Given the description of an element on the screen output the (x, y) to click on. 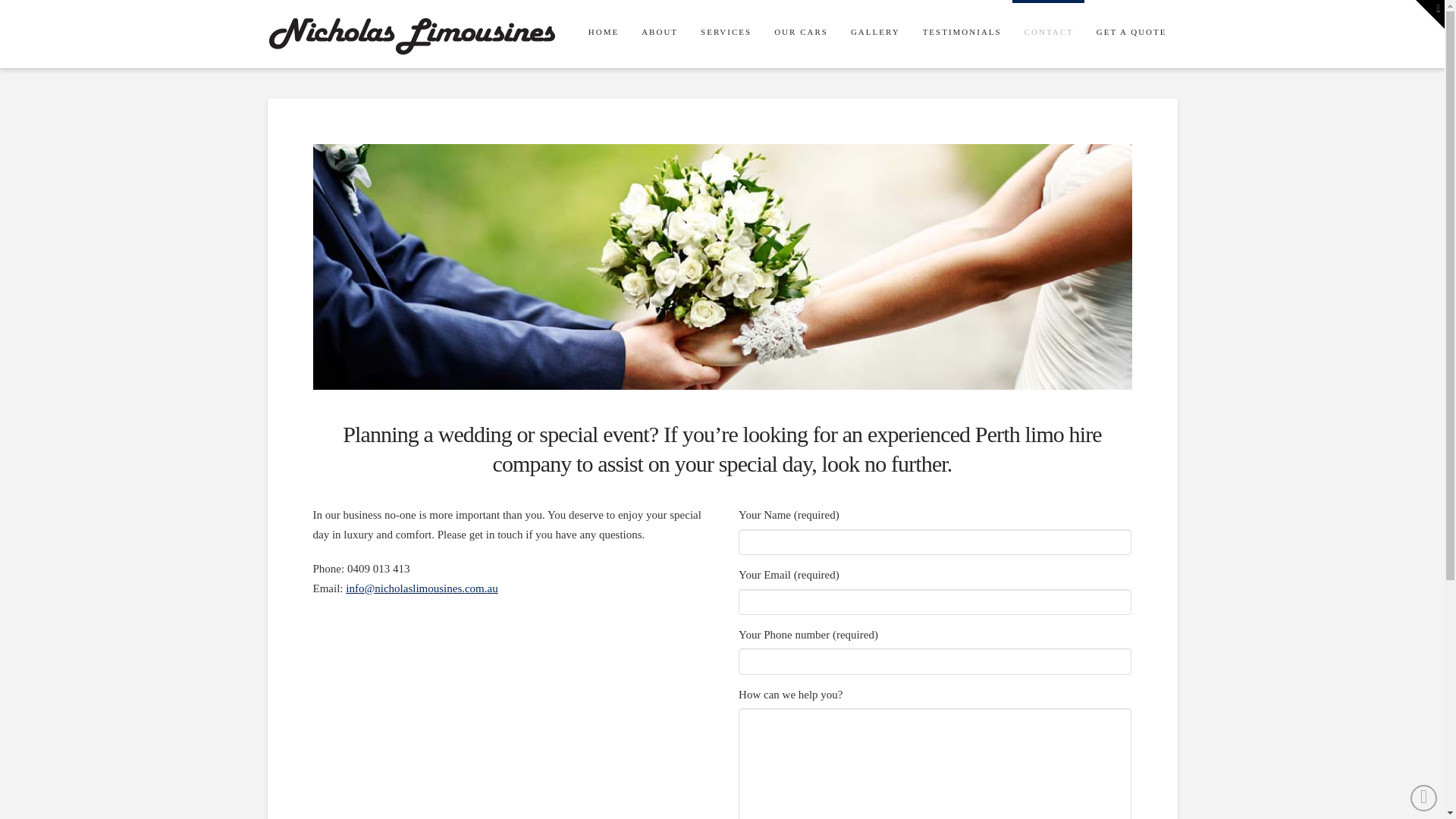
GALLERY Element type: text (874, 34)
ABOUT Element type: text (658, 34)
Back to Top Element type: hover (1423, 797)
CONTACT Element type: text (1048, 34)
GET A QUOTE Element type: text (1130, 34)
HOME Element type: text (602, 34)
Toggle the Widgetbar Element type: text (1429, 14)
OUR CARS Element type: text (800, 34)
TESTIMONIALS Element type: text (961, 34)
SERVICES Element type: text (725, 34)
info@nicholaslimousines.com.au Element type: text (421, 588)
